Given the description of an element on the screen output the (x, y) to click on. 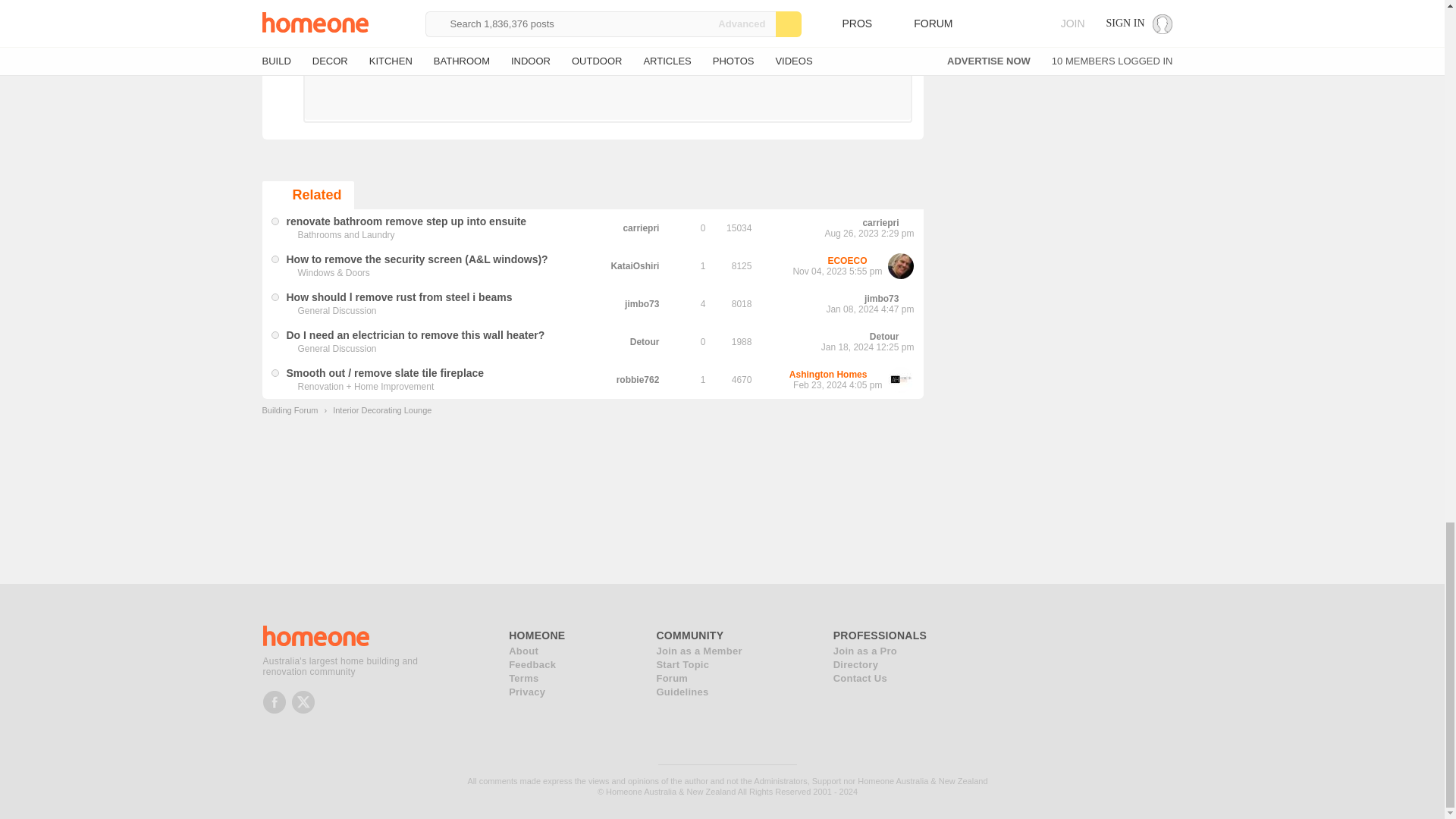
Posted: Oct 31, 2023 10:36 am (417, 258)
View the latest post (876, 261)
Posted: Aug 26, 2023 2:29 pm (406, 220)
Posted: Jan 18, 2024 12:25 pm (415, 334)
View the latest post (908, 298)
Posted: Jan 06, 2024 6:18 pm (399, 296)
View the latest post (908, 223)
